Given the description of an element on the screen output the (x, y) to click on. 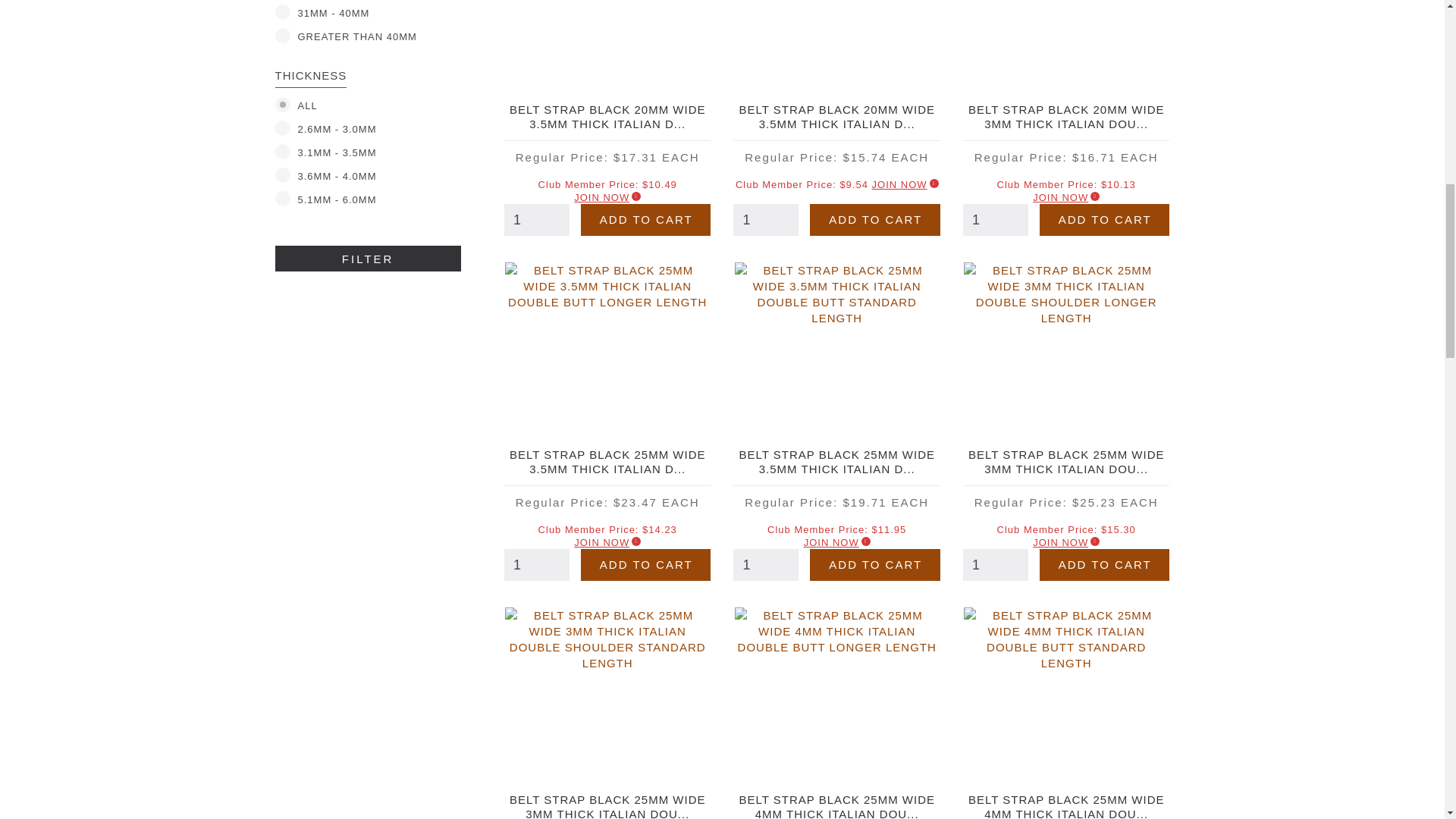
1 (765, 219)
1 (765, 564)
1 (994, 564)
1 (536, 564)
1 (536, 219)
1 (994, 219)
Filter (367, 258)
